Given the description of an element on the screen output the (x, y) to click on. 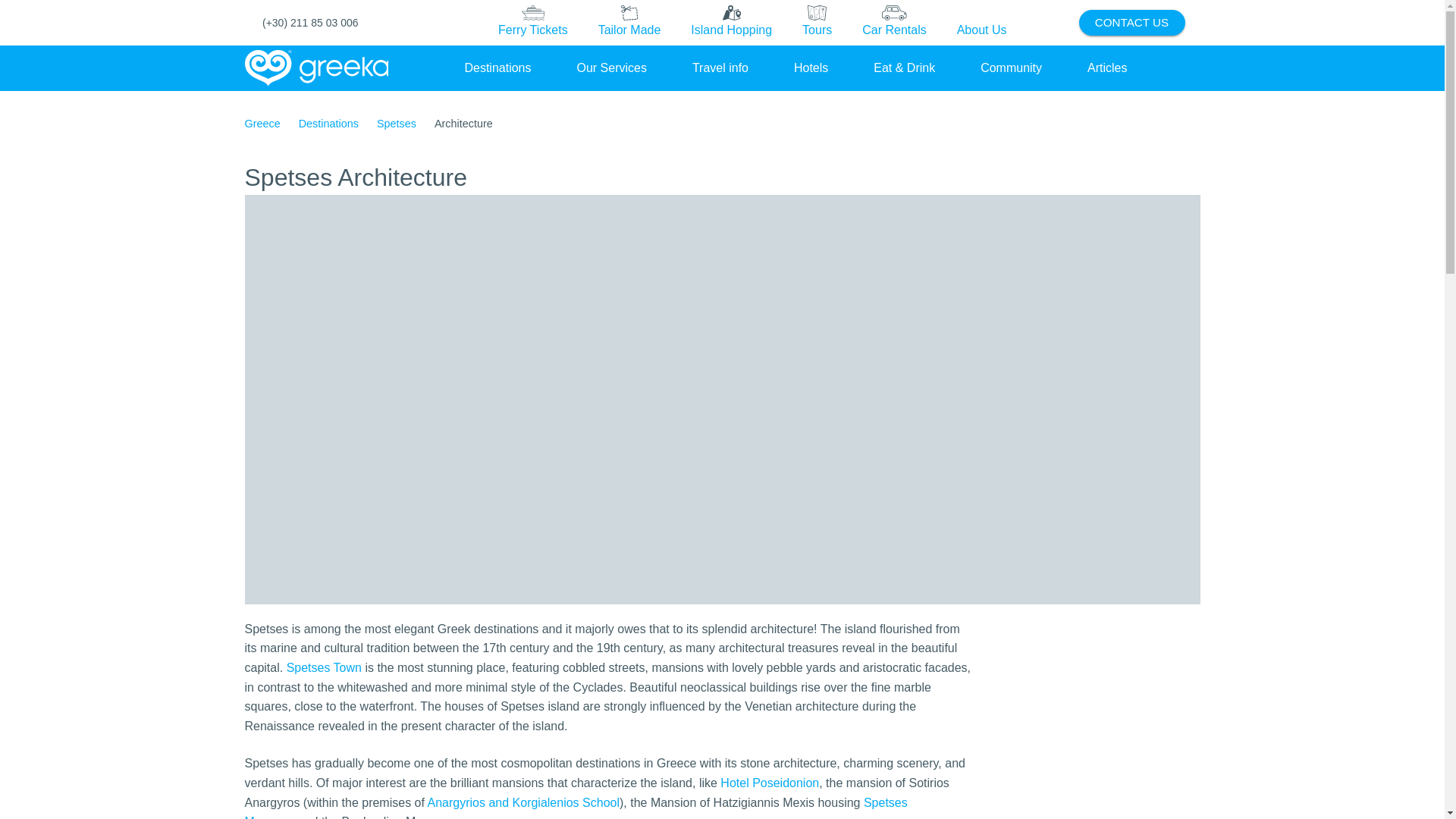
Travel Services (611, 67)
Spetses (396, 123)
About Us (981, 22)
Blog (1106, 67)
Hotel Poseidonion (769, 782)
Spetses Museum (575, 807)
Anargyrios and Korgialenios School (524, 802)
Ferry Tickets (532, 22)
Car Rentals (893, 22)
Ferry tickets (533, 22)
